Given the description of an element on the screen output the (x, y) to click on. 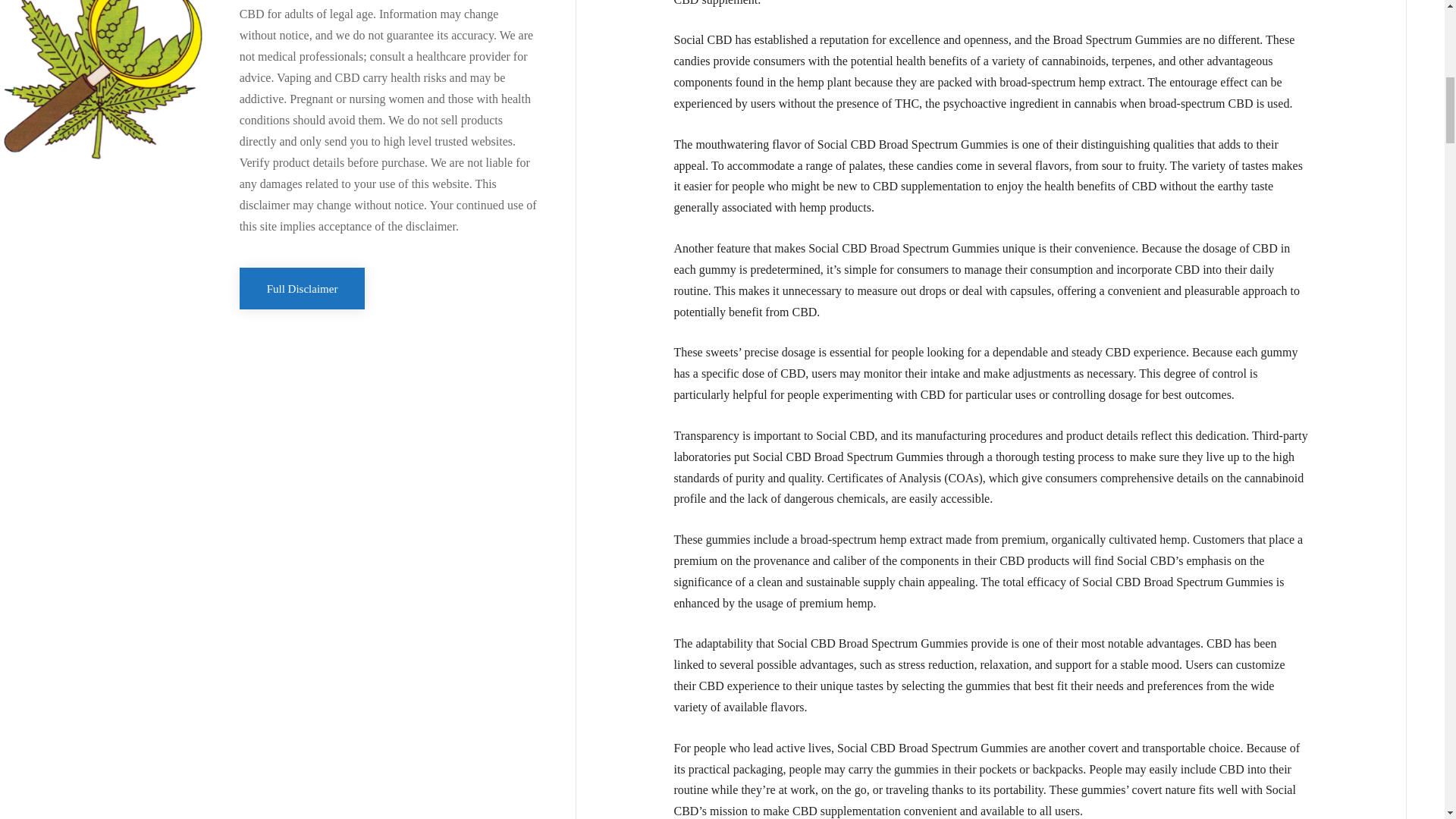
Full Disclaimer (302, 288)
Full Disclaimer (302, 288)
